Given the description of an element on the screen output the (x, y) to click on. 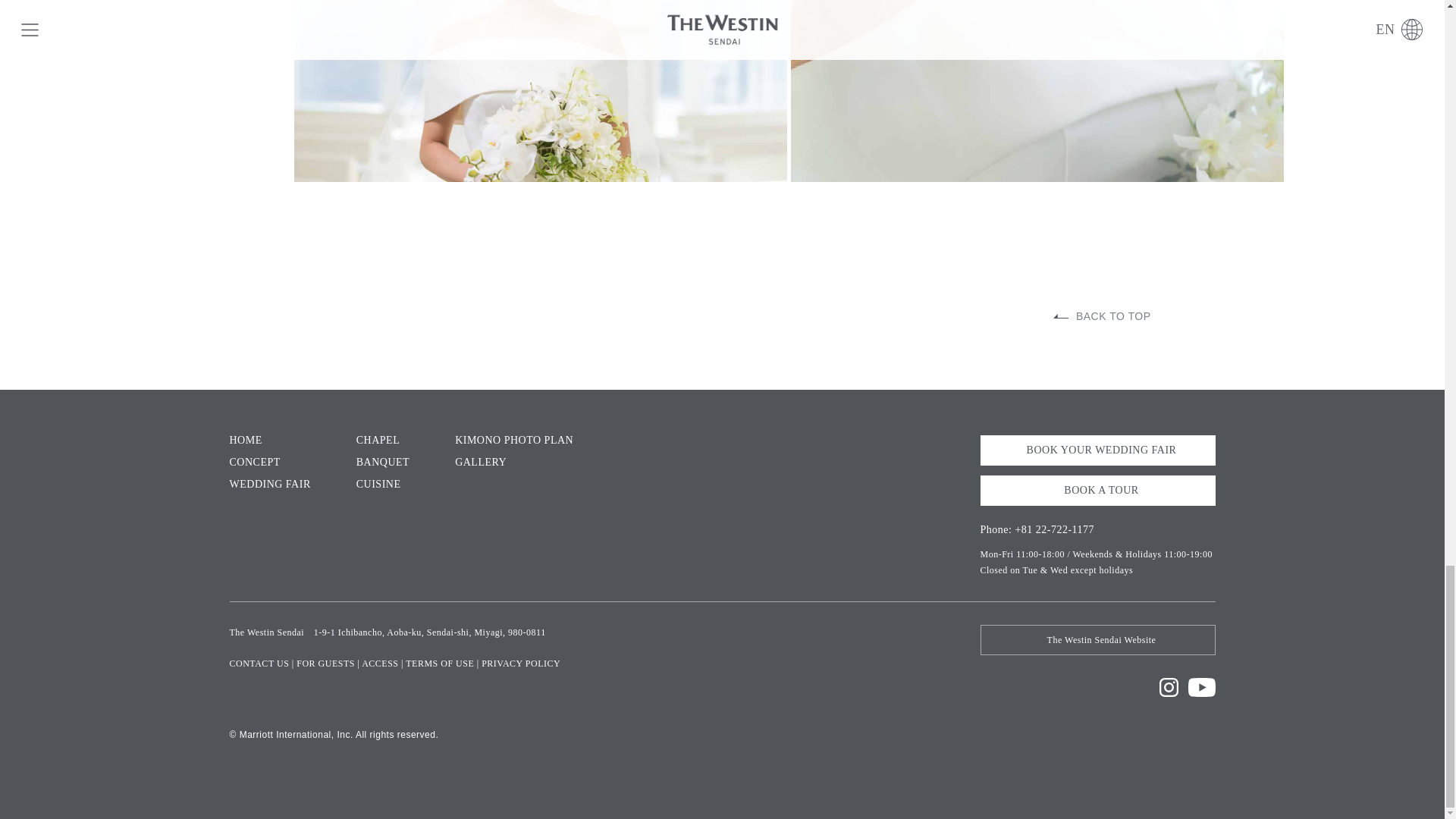
PRIVACY POLICY (520, 663)
FOR GUESTS (326, 663)
BACK TO TOP (1101, 316)
HOME (245, 445)
GALLERY (480, 468)
BOOK A TOUR (1096, 490)
CUISINE (378, 490)
BOOK YOUR WEDDING FAIR (1096, 450)
KIMONO PHOTO PLAN (513, 445)
CONTACT US (258, 663)
WEDDING FAIR (269, 490)
TERMS OF USE (440, 663)
ACCESS (379, 663)
The Westin Sendai Website (1096, 639)
BANQUET (382, 468)
